Given the description of an element on the screen output the (x, y) to click on. 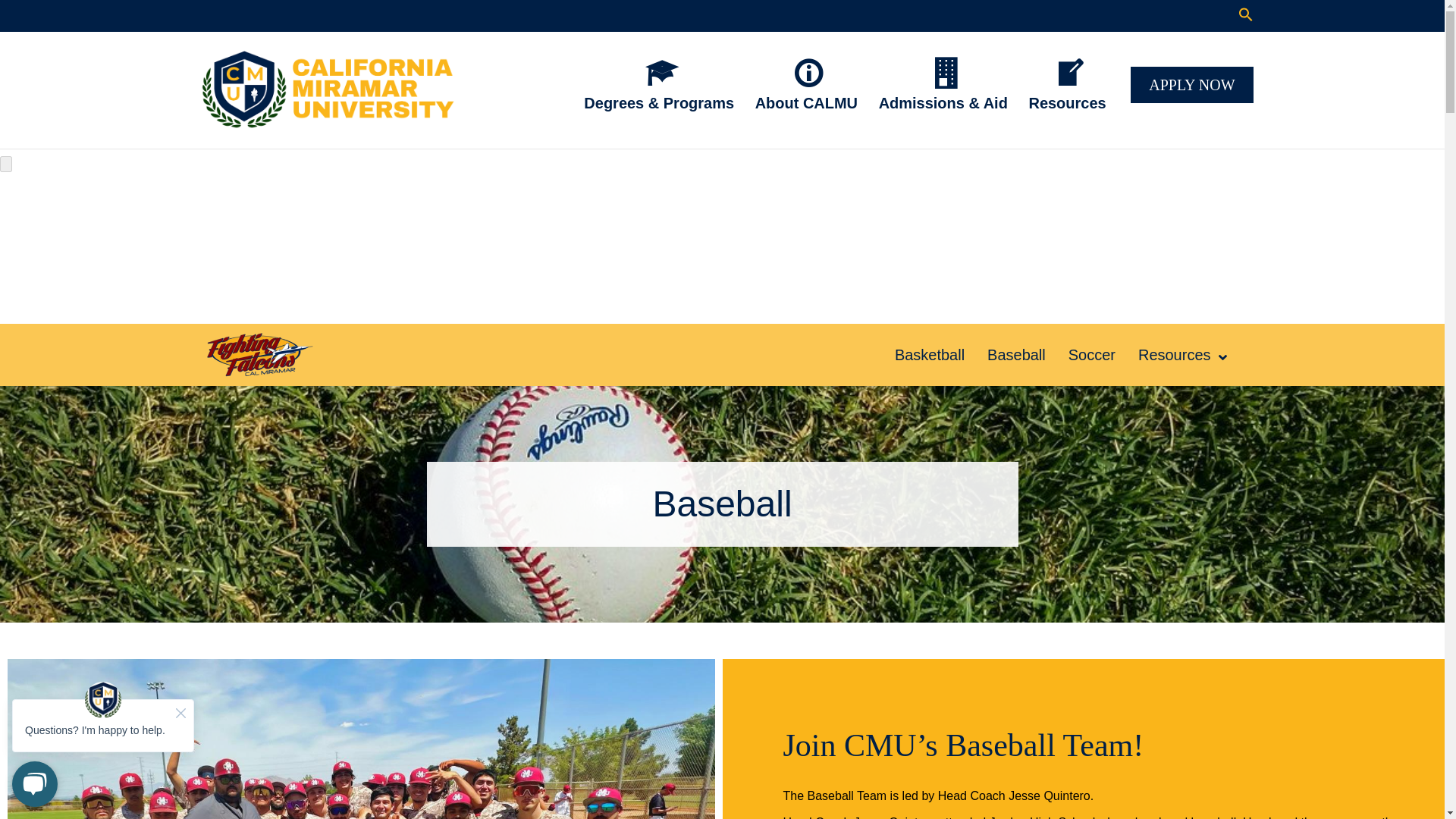
Resources (1069, 84)
About CALMU (808, 84)
California Miramar University (327, 90)
Chat Widget (103, 744)
Fighting Falcons (259, 354)
